Given the description of an element on the screen output the (x, y) to click on. 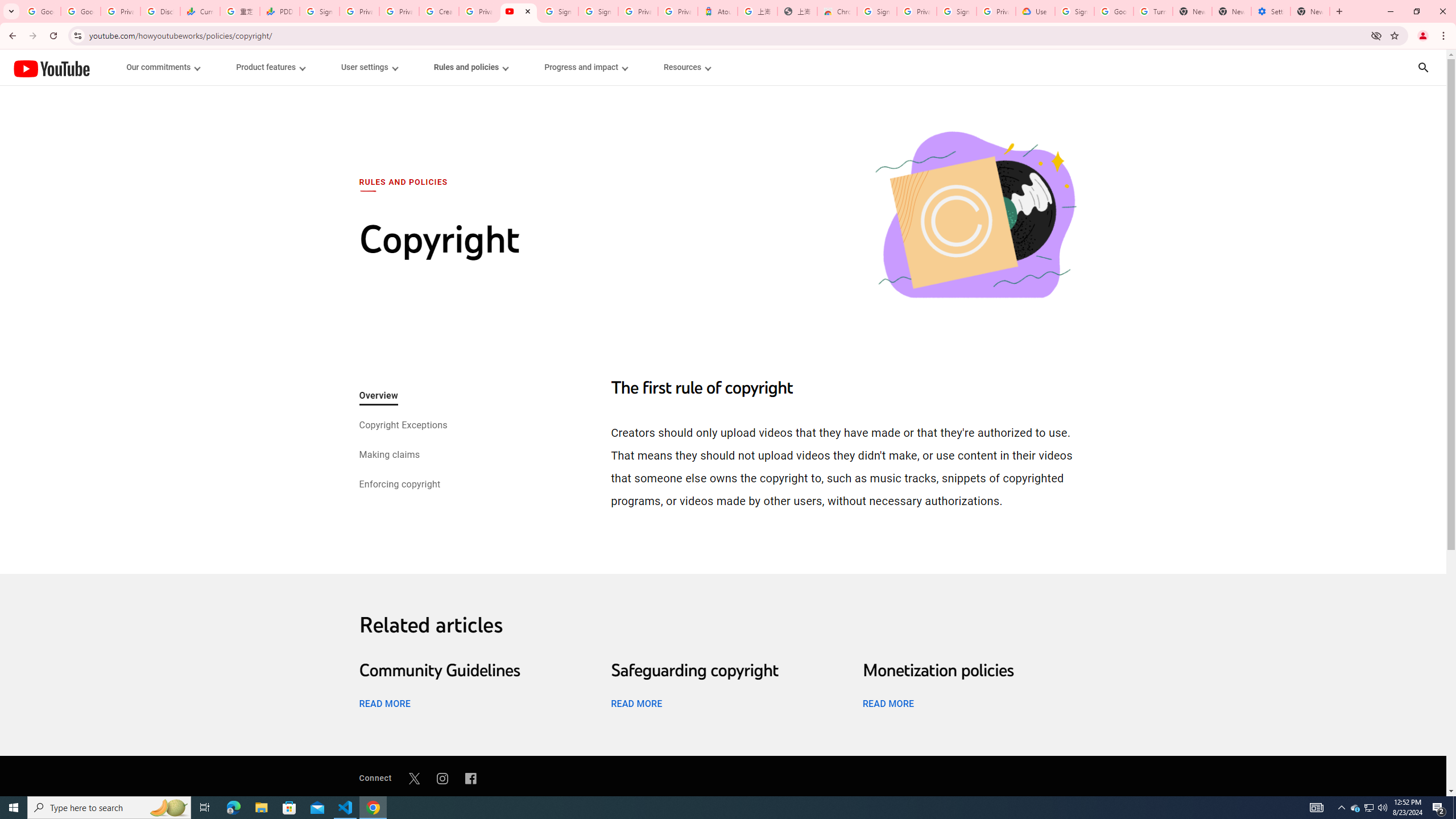
User settings menupopup (368, 67)
Google Account Help (1113, 11)
PDD Holdings Inc - ADR (PDD) Price & News - Google Finance (279, 11)
Product features menupopup (269, 67)
Sign in - Google Accounts (876, 11)
Google Workspace Admin Community (40, 11)
Turn cookies on or off - Computer - Google Account Help (1152, 11)
Privacy Checkup (398, 11)
Sign in - Google Accounts (598, 11)
Sign in - Google Accounts (1074, 11)
Copyright (974, 216)
